Given the description of an element on the screen output the (x, y) to click on. 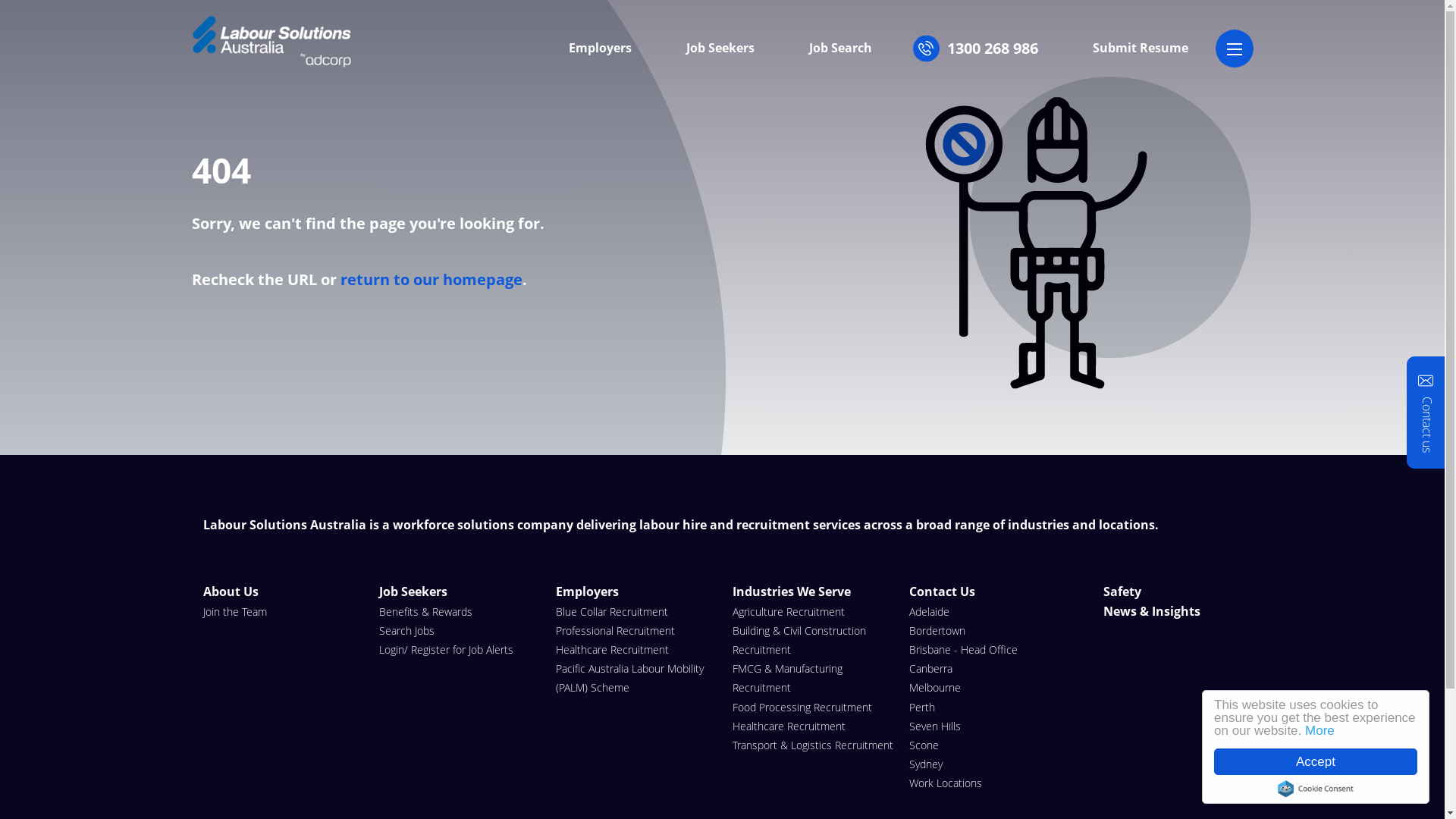
News & Insights Element type: text (1150, 611)
Sydney Element type: text (989, 763)
Building & Civil Construction Recruitment Element type: text (813, 639)
Employers Element type: text (599, 48)
Job Seekers Element type: text (459, 592)
Food Processing Recruitment Element type: text (813, 706)
Benefits & Rewards Element type: text (459, 611)
Transport & Logistics Recruitment Element type: text (813, 744)
Search Jobs Element type: text (459, 630)
Adelaide Element type: text (989, 611)
Login/ Register for Job Alerts Element type: text (459, 649)
Employers Element type: text (636, 592)
FMCG & Manufacturing Recruitment Element type: text (813, 677)
Job Seekers Element type: text (719, 48)
Melbourne Element type: text (989, 686)
Submit Resume Element type: text (1139, 48)
Contact Us Element type: text (989, 592)
More Element type: text (1319, 730)
Perth Element type: text (989, 706)
Brisbane - Head Office Element type: text (989, 649)
Professional Recruitment Element type: text (636, 630)
Healthcare Recruitment Element type: text (813, 725)
Join the Team Element type: text (283, 611)
Work Locations Element type: text (989, 782)
Job Search Element type: text (839, 48)
Seven Hills Element type: text (989, 725)
About Us Element type: text (283, 592)
Pacific Australia Labour Mobility (PALM) Scheme Element type: text (636, 677)
Bordertown Element type: text (989, 630)
Canberra Element type: text (989, 667)
return to our homepage Element type: text (430, 279)
1300 268 986 Element type: text (989, 48)
Cookie Consent plugin for the EU cookie law Element type: text (1315, 788)
Scone Element type: text (989, 744)
Healthcare Recruitment Element type: text (636, 649)
Accept Element type: text (1315, 761)
Agriculture Recruitment Element type: text (813, 611)
Safety Element type: text (1150, 592)
Industries We Serve Element type: text (813, 592)
Blue Collar Recruitment Element type: text (636, 611)
